Given the description of an element on the screen output the (x, y) to click on. 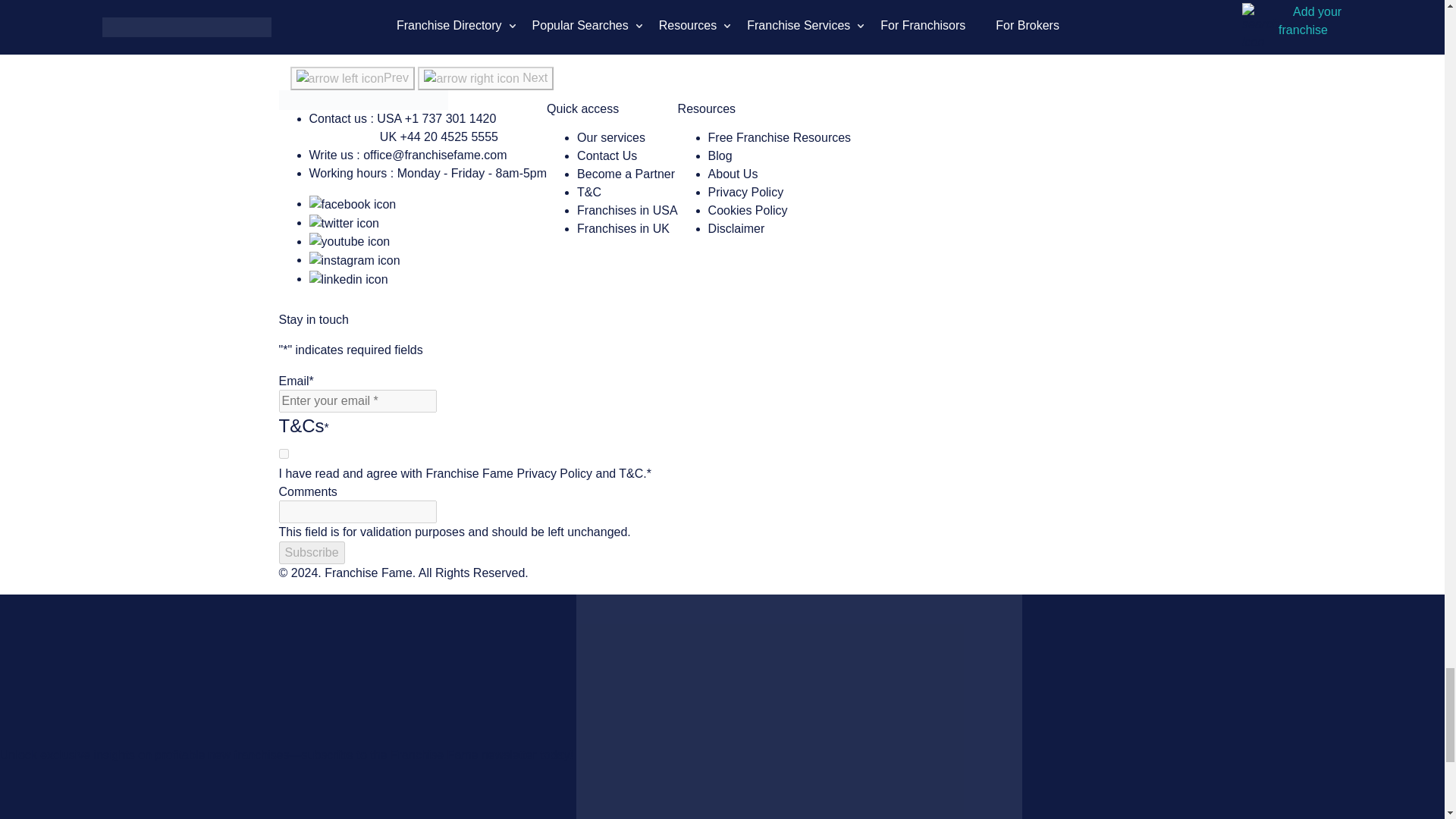
1 (283, 453)
Subscribe (312, 552)
